Given the description of an element on the screen output the (x, y) to click on. 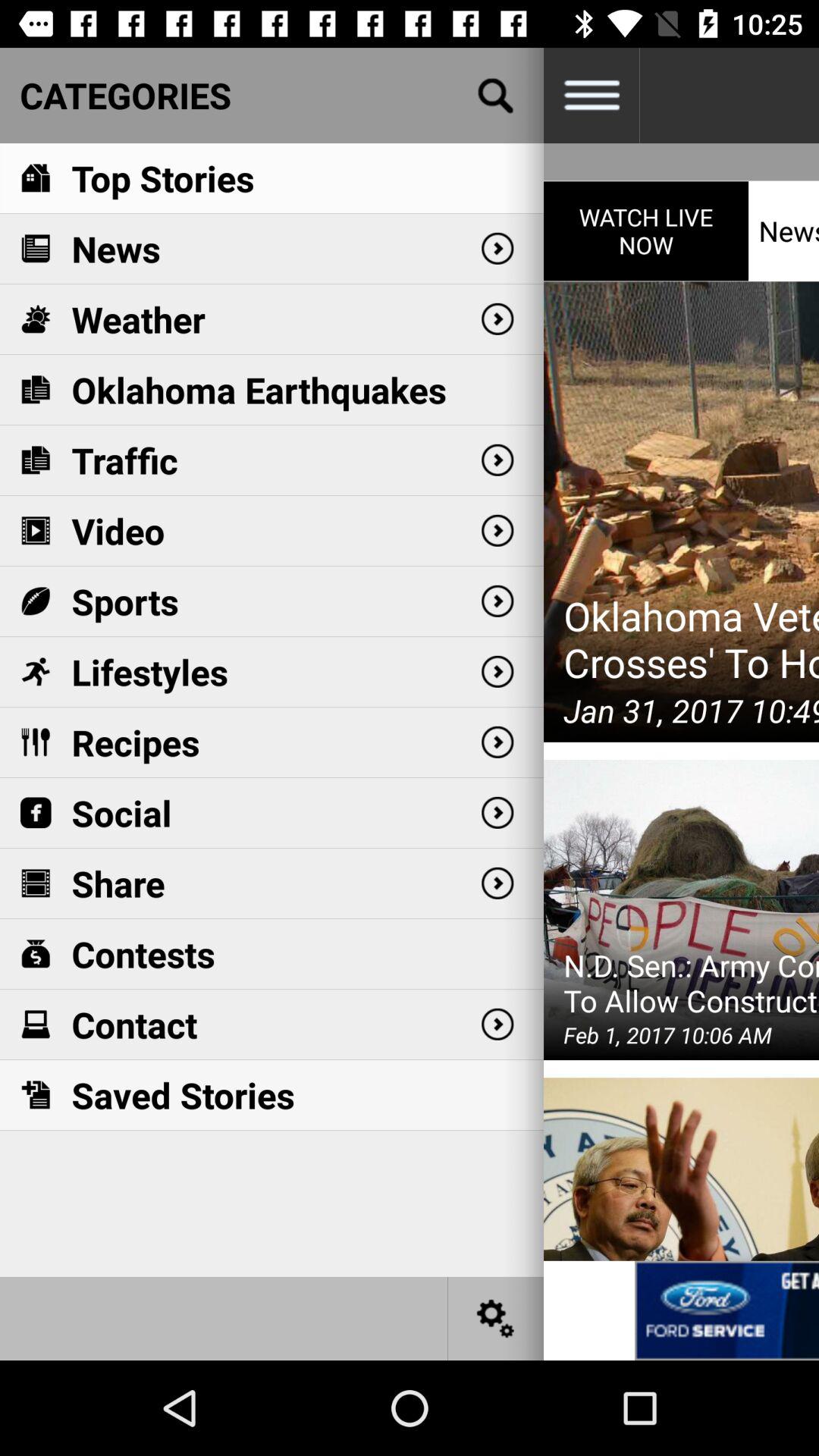
enter search (495, 95)
